Given the description of an element on the screen output the (x, y) to click on. 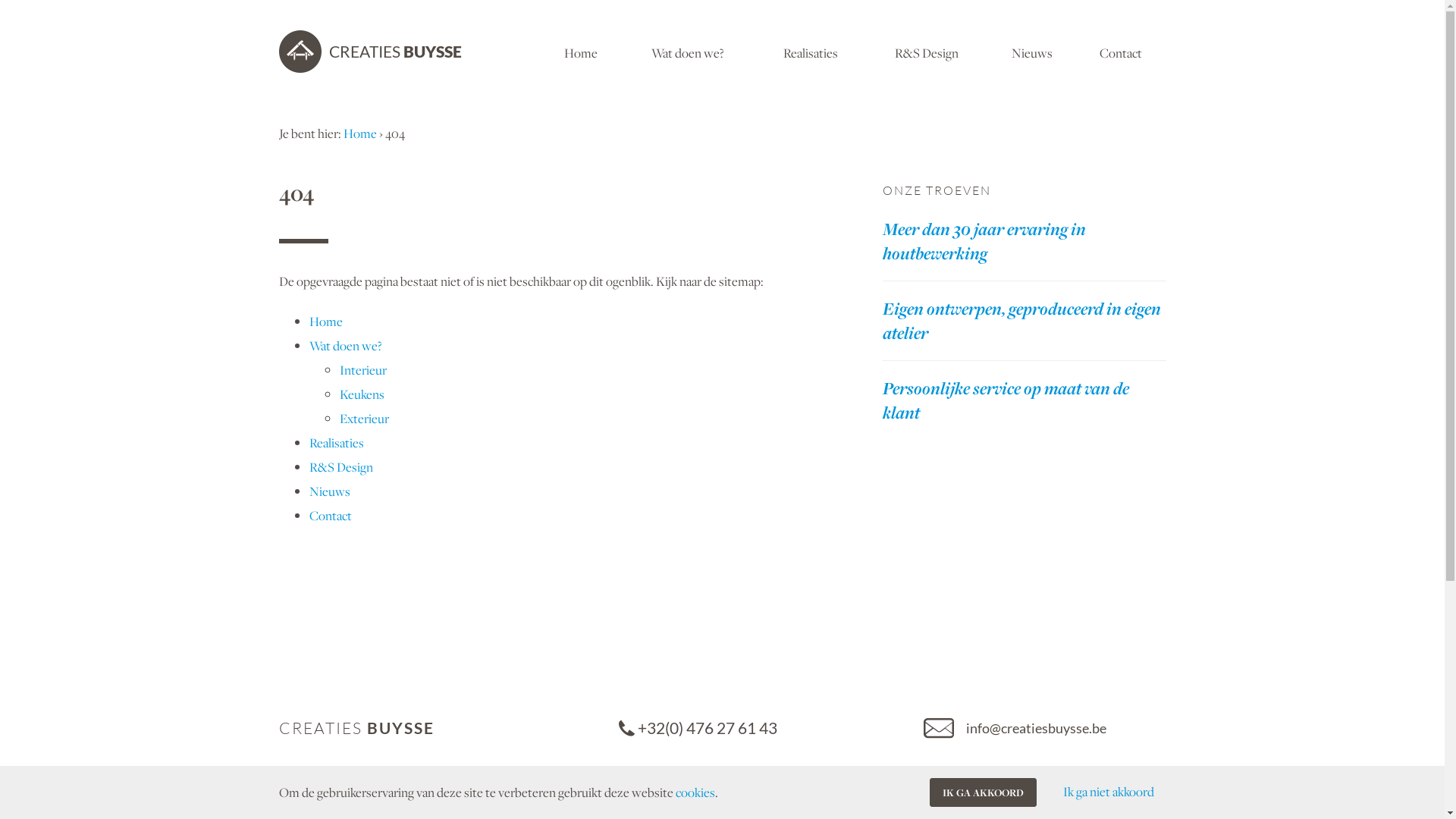
Home Element type: text (325, 321)
R&S Design Element type: text (926, 51)
Realisaties Element type: text (336, 442)
Realisaties Element type: text (810, 51)
CREATIES BUYSSE Element type: text (370, 51)
Interieur Element type: text (362, 369)
Exterieur Element type: text (364, 418)
Home Element type: text (580, 51)
R&S Design Element type: text (341, 467)
Wat doen we? Element type: text (759, 798)
Wat doen we? Element type: text (687, 51)
Contact Element type: text (1121, 51)
IK GA AKKOORD Element type: text (982, 792)
Wat doen we? Element type: text (345, 345)
info@creatiesbuysse.be Element type: text (1043, 727)
+32(0) 476 27 61 43 Element type: text (759, 727)
cookies Element type: text (694, 792)
Vind ons leuk Element type: text (1043, 791)
Home Element type: text (359, 133)
Nieuws Element type: text (1032, 51)
Ik ga niet akkoord Element type: text (1108, 791)
Keukens Element type: text (361, 394)
Contact Element type: text (330, 515)
Nieuws Element type: text (329, 491)
